Given the description of an element on the screen output the (x, y) to click on. 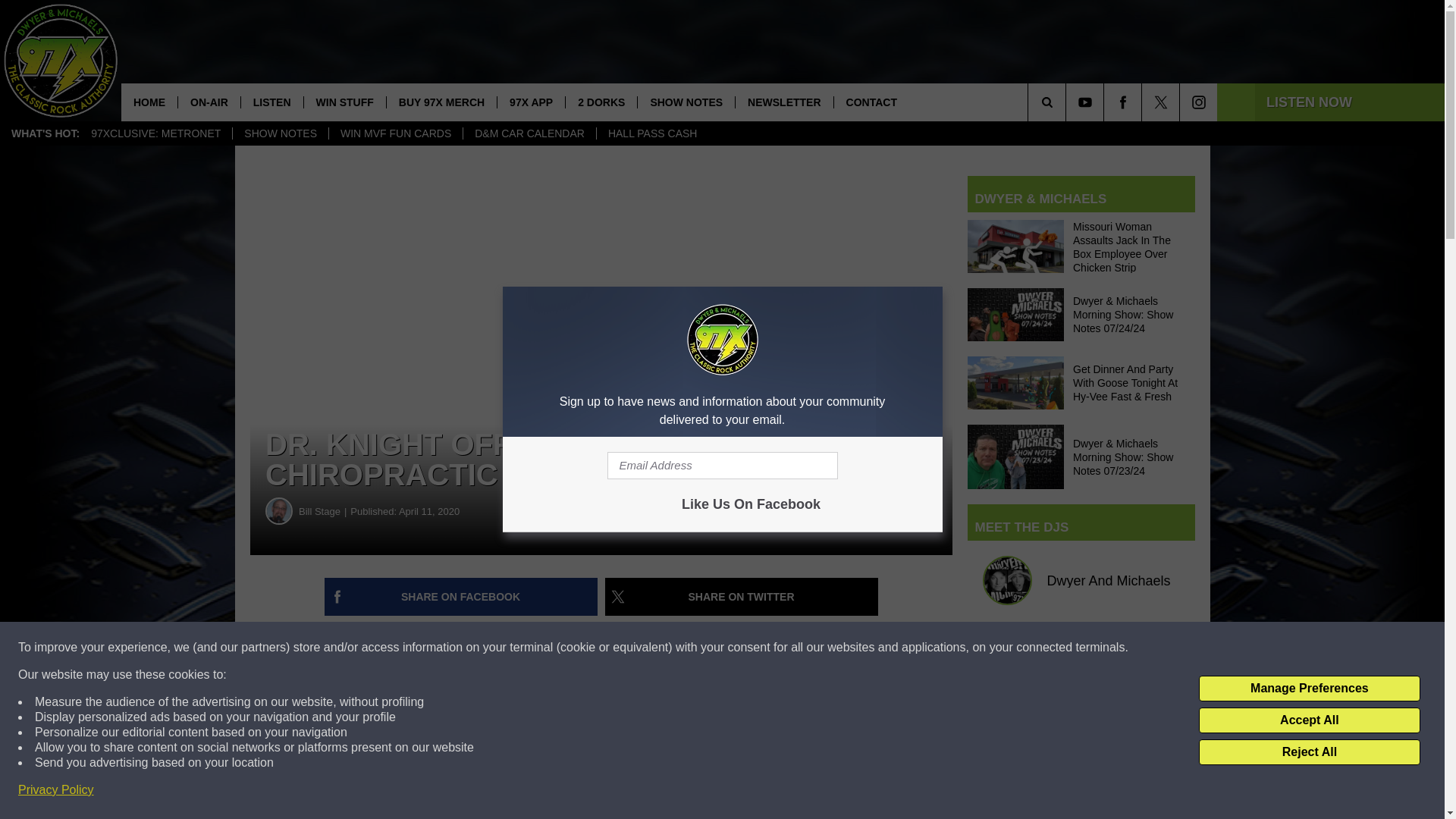
Share on Twitter (741, 596)
97X APP (530, 102)
Accept All (1309, 720)
97XCLUSIVE: METRONET (155, 133)
Reject All (1309, 751)
2 DORKS (600, 102)
SEARCH (1068, 102)
SHOW NOTES (280, 133)
Privacy Policy (55, 789)
LISTEN (271, 102)
BUY 97X MERCH (440, 102)
Email Address (722, 465)
WIN MVF FUN CARDS (396, 133)
Manage Preferences (1309, 688)
Share on Facebook (460, 596)
